Given the description of an element on the screen output the (x, y) to click on. 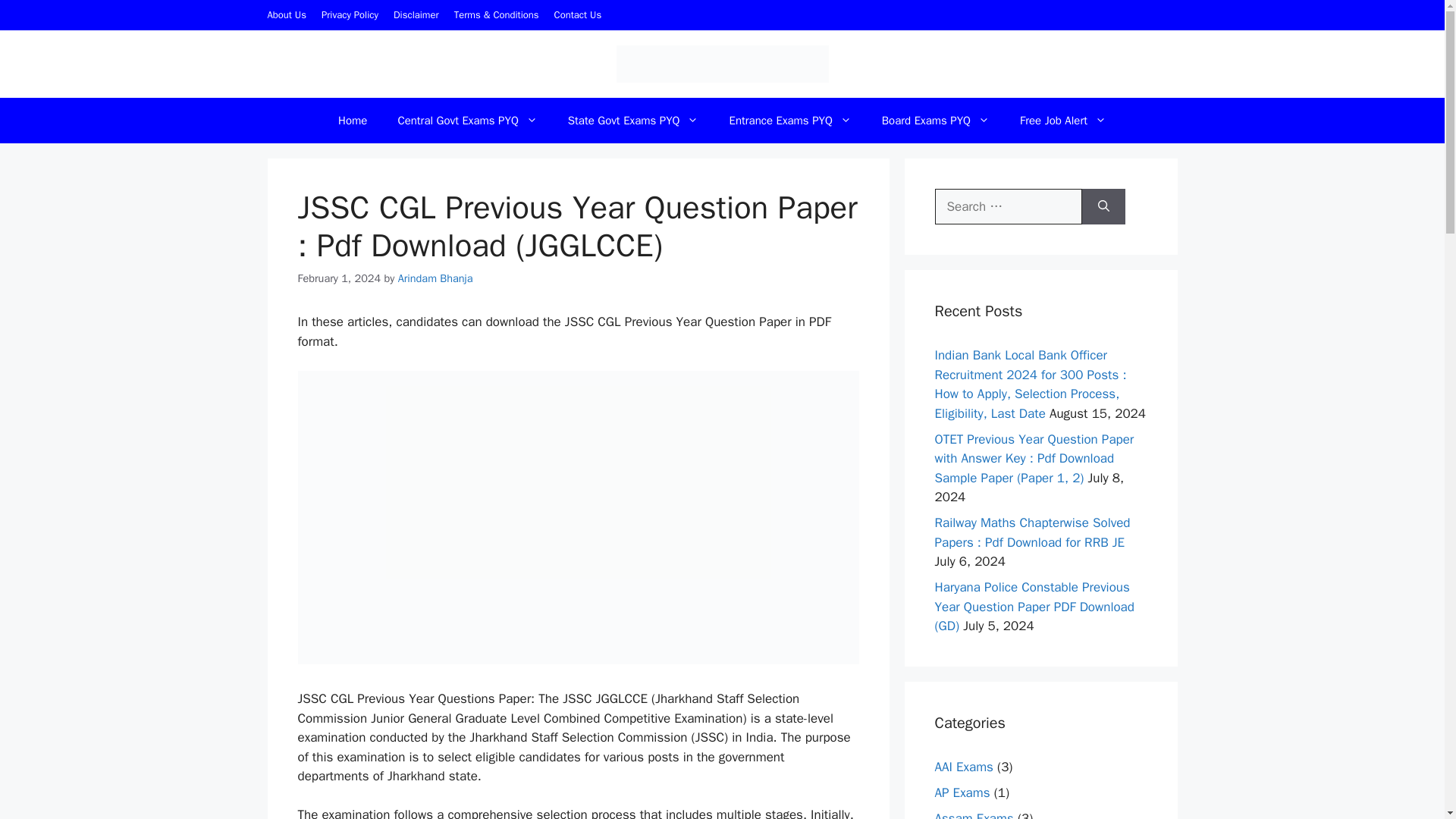
Disclaimer (416, 14)
About Us (285, 14)
Search for: (1007, 207)
State Govt Exams PYQ (633, 120)
Central Govt Exams PYQ (466, 120)
Contact Us (578, 14)
View all posts by Arindam Bhanja (435, 278)
Privacy Policy (349, 14)
Home (352, 120)
